Given the description of an element on the screen output the (x, y) to click on. 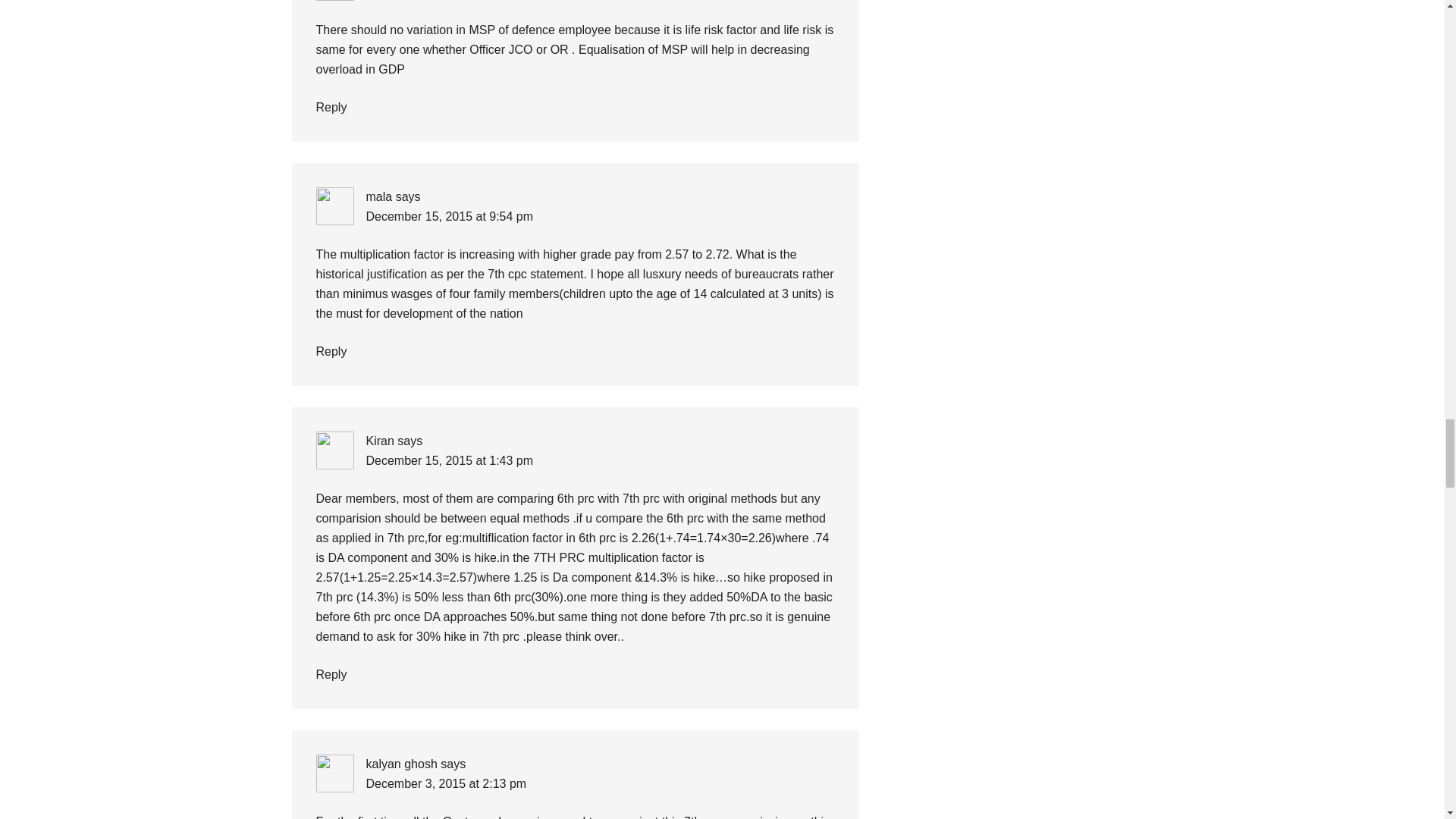
December 15, 2015 at 9:54 pm (448, 215)
Reply (330, 674)
December 15, 2015 at 1:43 pm (448, 460)
Reply (330, 350)
December 3, 2015 at 2:13 pm (445, 783)
Reply (330, 106)
